Given the description of an element on the screen output the (x, y) to click on. 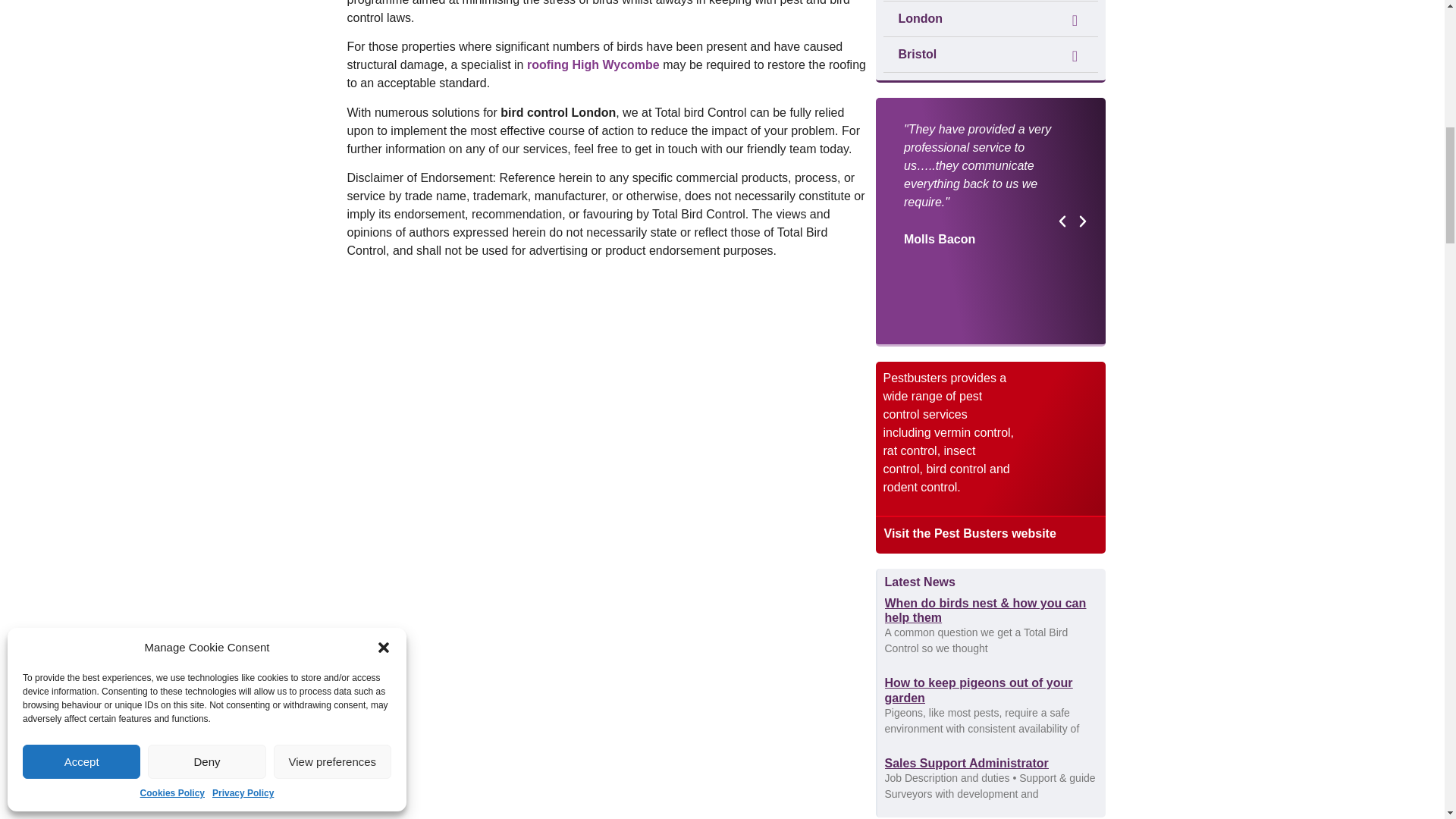
roofing High Wycombe (594, 64)
